Given the description of an element on the screen output the (x, y) to click on. 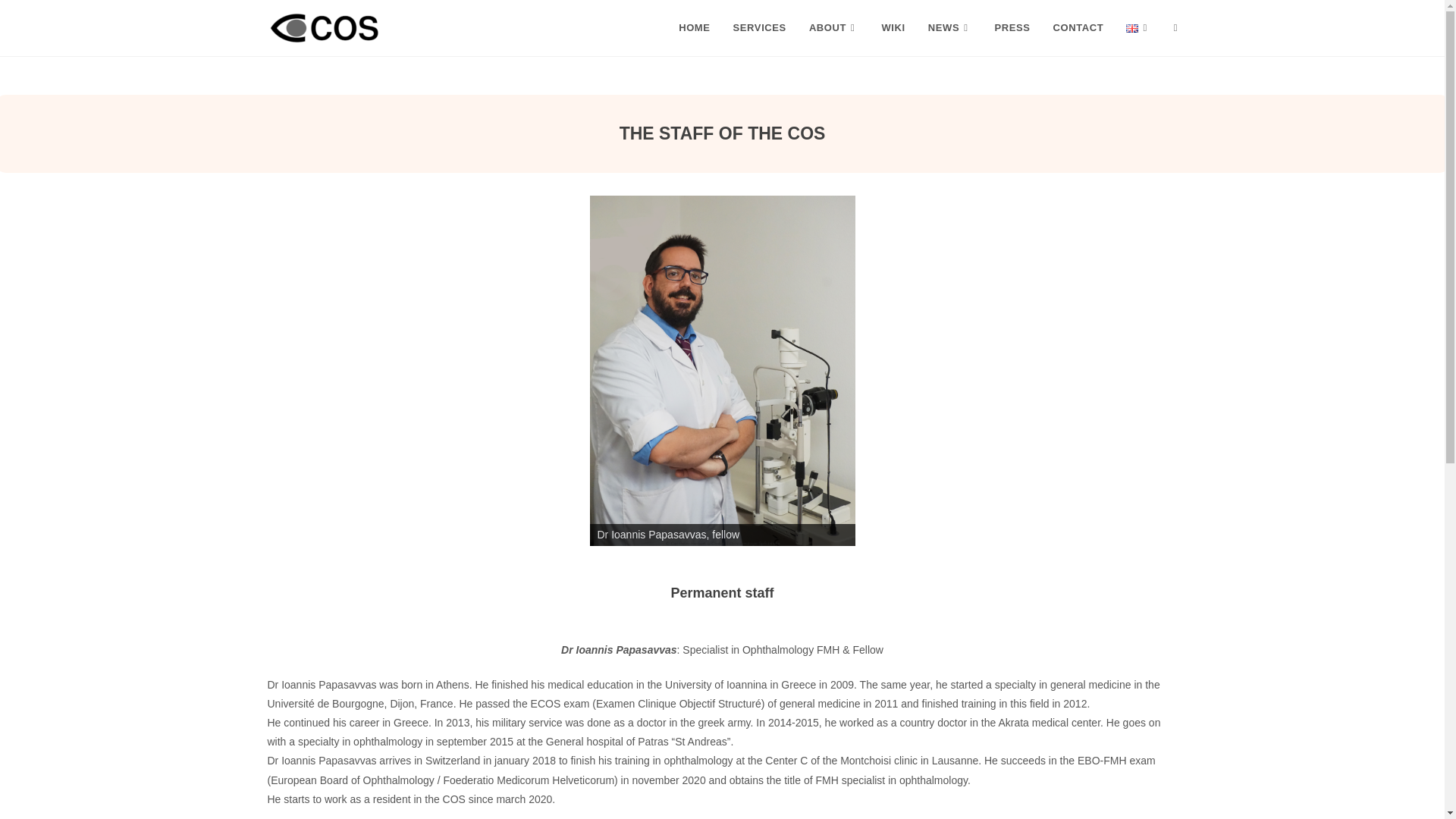
PRESS (1013, 28)
NEWS (950, 28)
ABOUT (833, 28)
SERVICES (759, 28)
HOME (693, 28)
CONTACT (1078, 28)
